Given the description of an element on the screen output the (x, y) to click on. 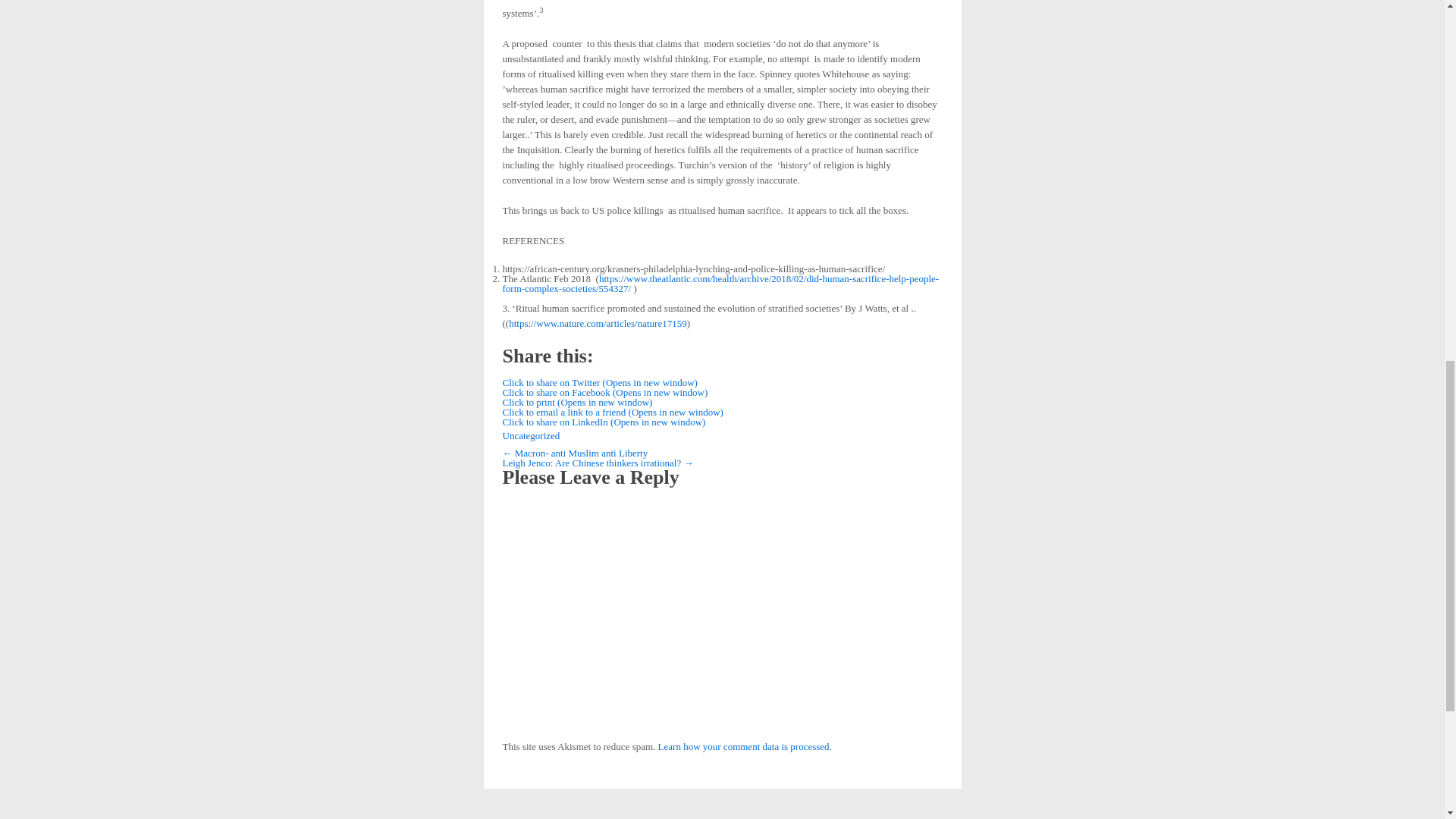
View all posts in Uncategorized (530, 435)
Click to print (577, 401)
Click to share on Facebook (604, 392)
Click to share on LinkedIn (603, 421)
Click to email a link to a friend (612, 411)
Comment Form (722, 617)
Click to share on Twitter (599, 382)
